Given the description of an element on the screen output the (x, y) to click on. 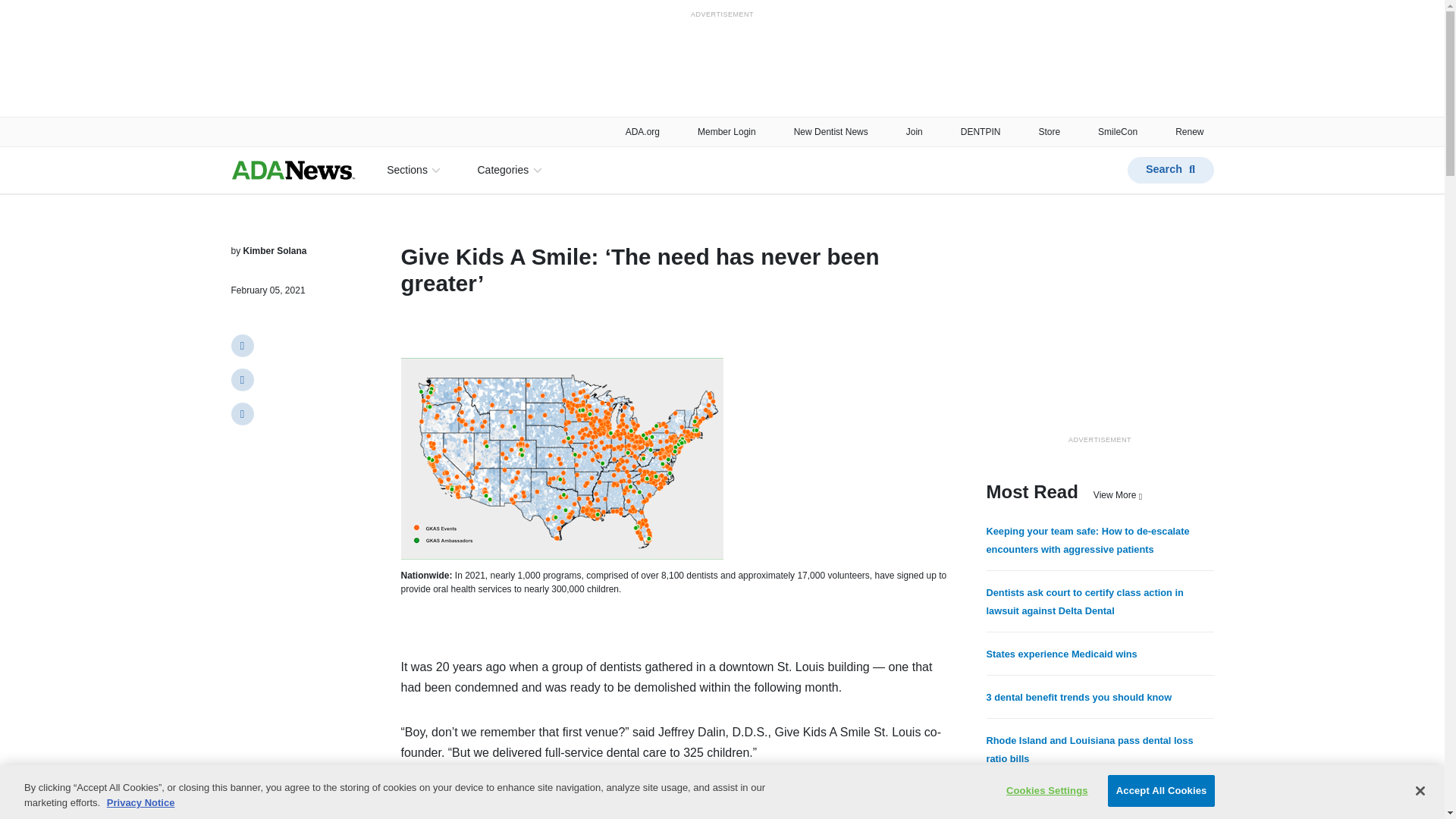
Twitter (241, 345)
Categories (508, 170)
DENTPIN (980, 131)
Sections (413, 170)
New Dentist News (830, 131)
3rd party ad content (1098, 337)
Renew (1189, 131)
Store (1048, 131)
Share (241, 413)
Member Login (726, 131)
SmileCon (1117, 131)
Search (1169, 169)
Email (241, 379)
View More (1117, 494)
ADA.org (642, 131)
